Given the description of an element on the screen output the (x, y) to click on. 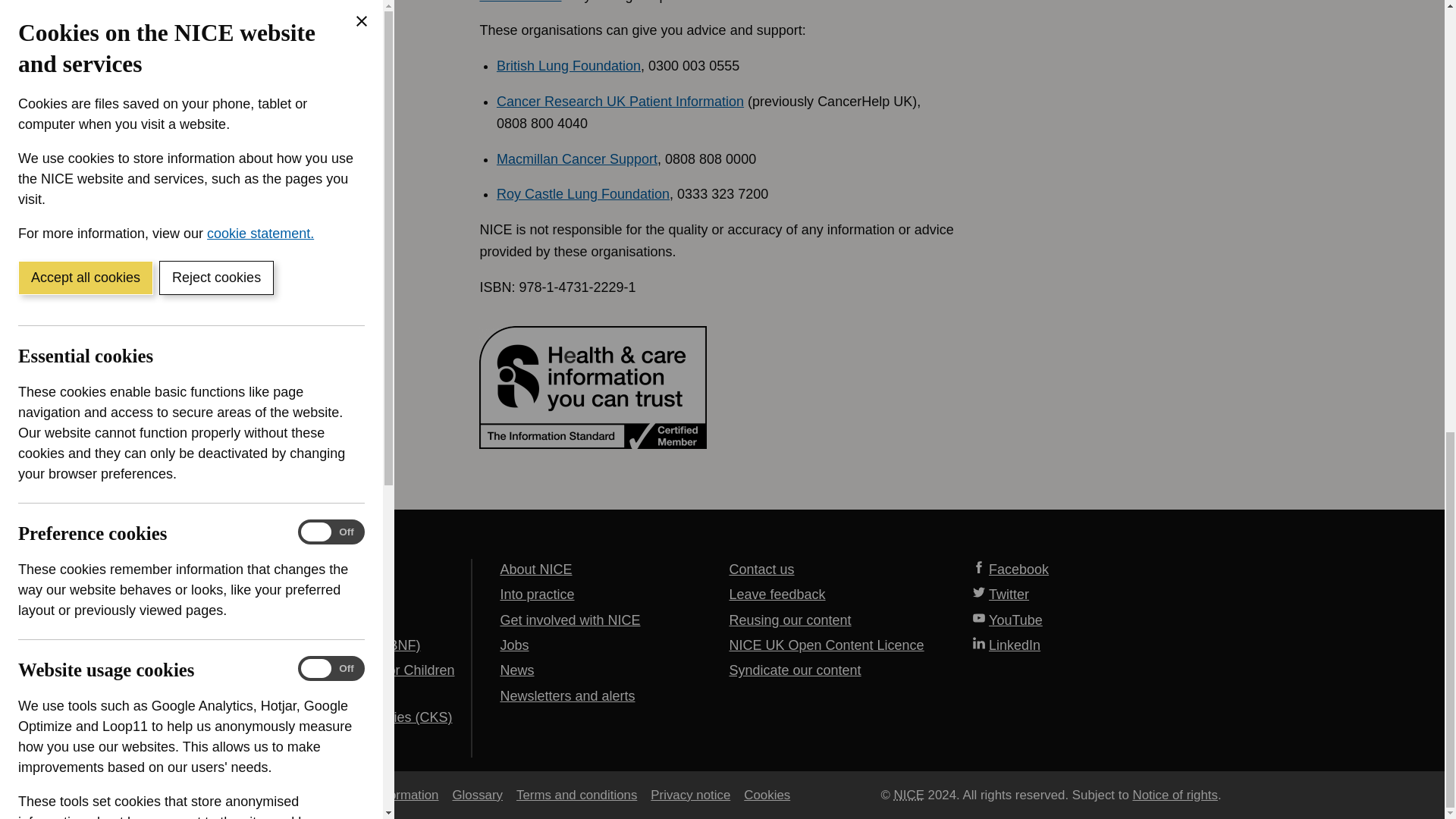
National Institute for Health and Care Excellence (908, 794)
Show vendors within this category (130, 328)
